Given the description of an element on the screen output the (x, y) to click on. 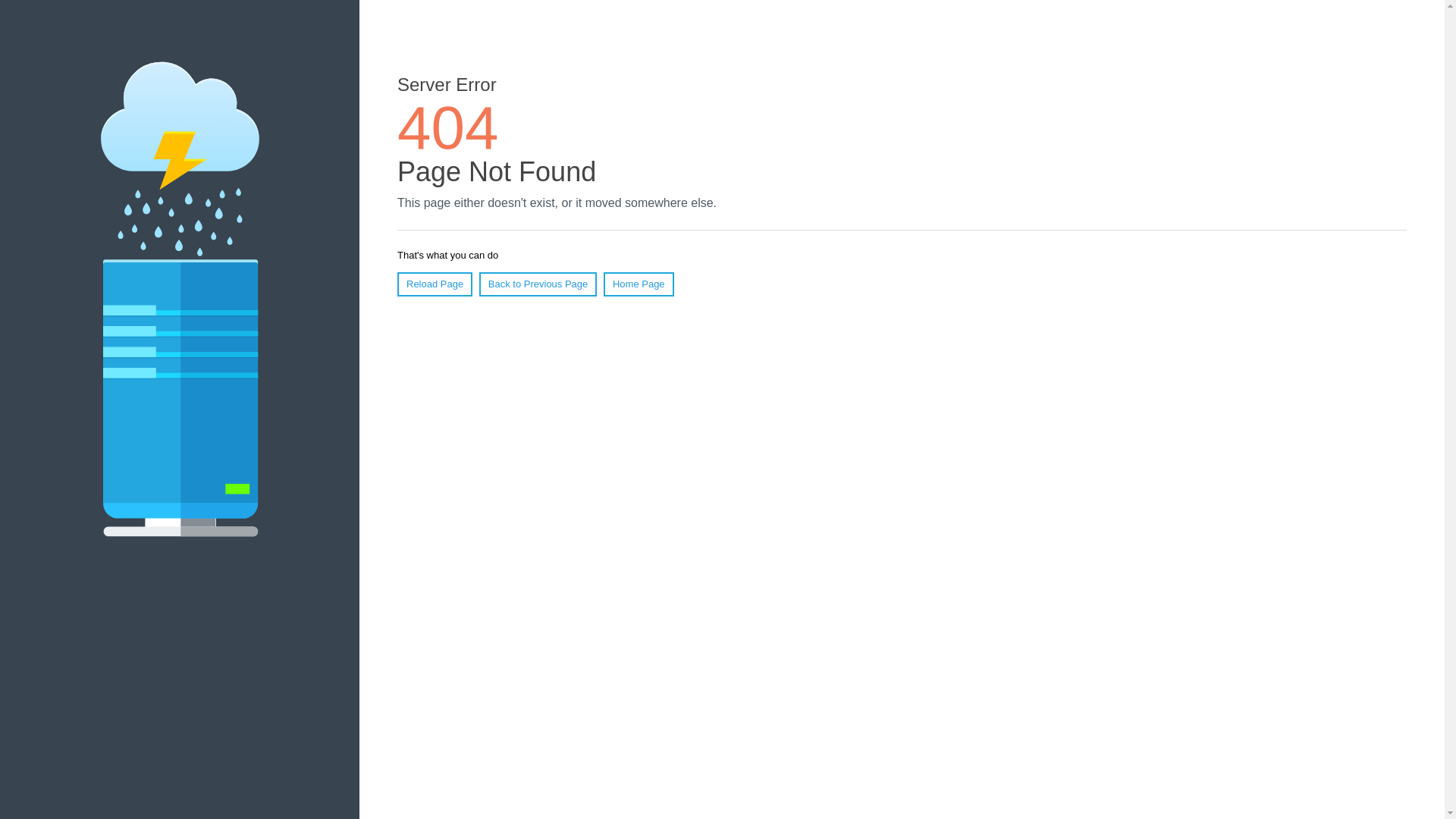
Home Page Element type: text (638, 284)
Reload Page Element type: text (434, 284)
Back to Previous Page Element type: text (538, 284)
